Given the description of an element on the screen output the (x, y) to click on. 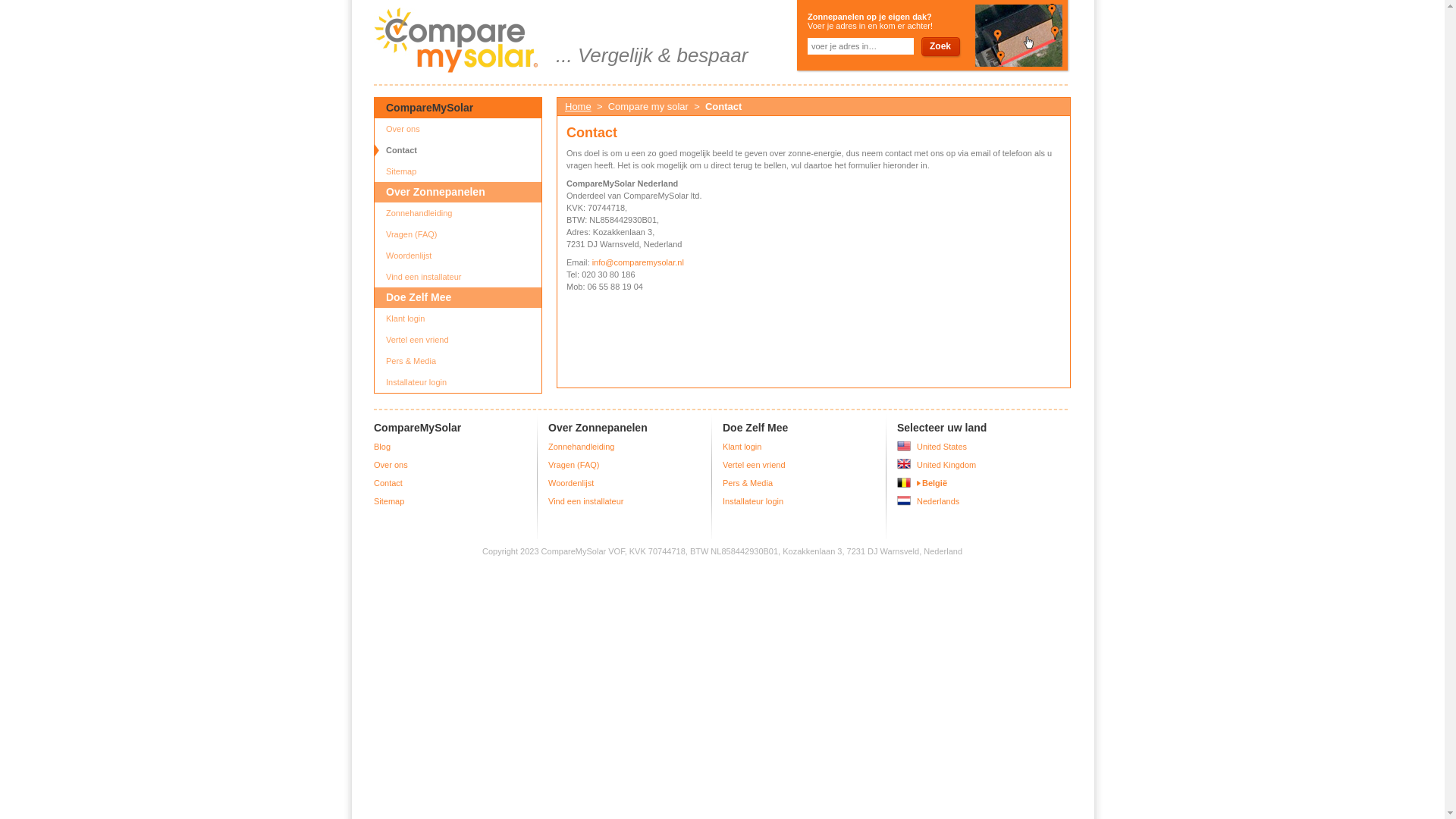
CompareMySolar Element type: text (457, 107)
Vragen (FAQ) Element type: text (457, 233)
info@comparemysolar.nl Element type: text (638, 261)
Over ons Element type: text (390, 464)
Sitemap Element type: text (457, 171)
Vertel een vriend Element type: text (753, 464)
Vragen (FAQ) Element type: text (573, 464)
Woordenlijst Element type: text (570, 482)
United Kingdom Element type: text (945, 464)
Over Zonnepanelen Element type: text (457, 192)
Vertel een vriend Element type: text (457, 339)
Pers & Media Element type: text (747, 482)
Over ons Element type: text (457, 128)
Pers & Media Element type: text (457, 360)
Zonnehandleiding Element type: text (581, 446)
United States Element type: text (941, 446)
Zonnehandleiding Element type: text (457, 212)
Installateur login Element type: text (457, 381)
Home Element type: text (577, 106)
Vind een installateur Element type: text (457, 276)
Nederlands Element type: text (937, 500)
Contact Element type: text (457, 149)
Klant login Element type: text (457, 318)
Blog Element type: text (381, 446)
Woordenlijst Element type: text (457, 255)
Vind een installateur Element type: text (585, 500)
Klant login Element type: text (741, 446)
Installateur login Element type: text (752, 500)
Contact Element type: text (387, 482)
Doe Zelf Mee Element type: text (457, 297)
Sitemap Element type: text (388, 500)
